Given the description of an element on the screen output the (x, y) to click on. 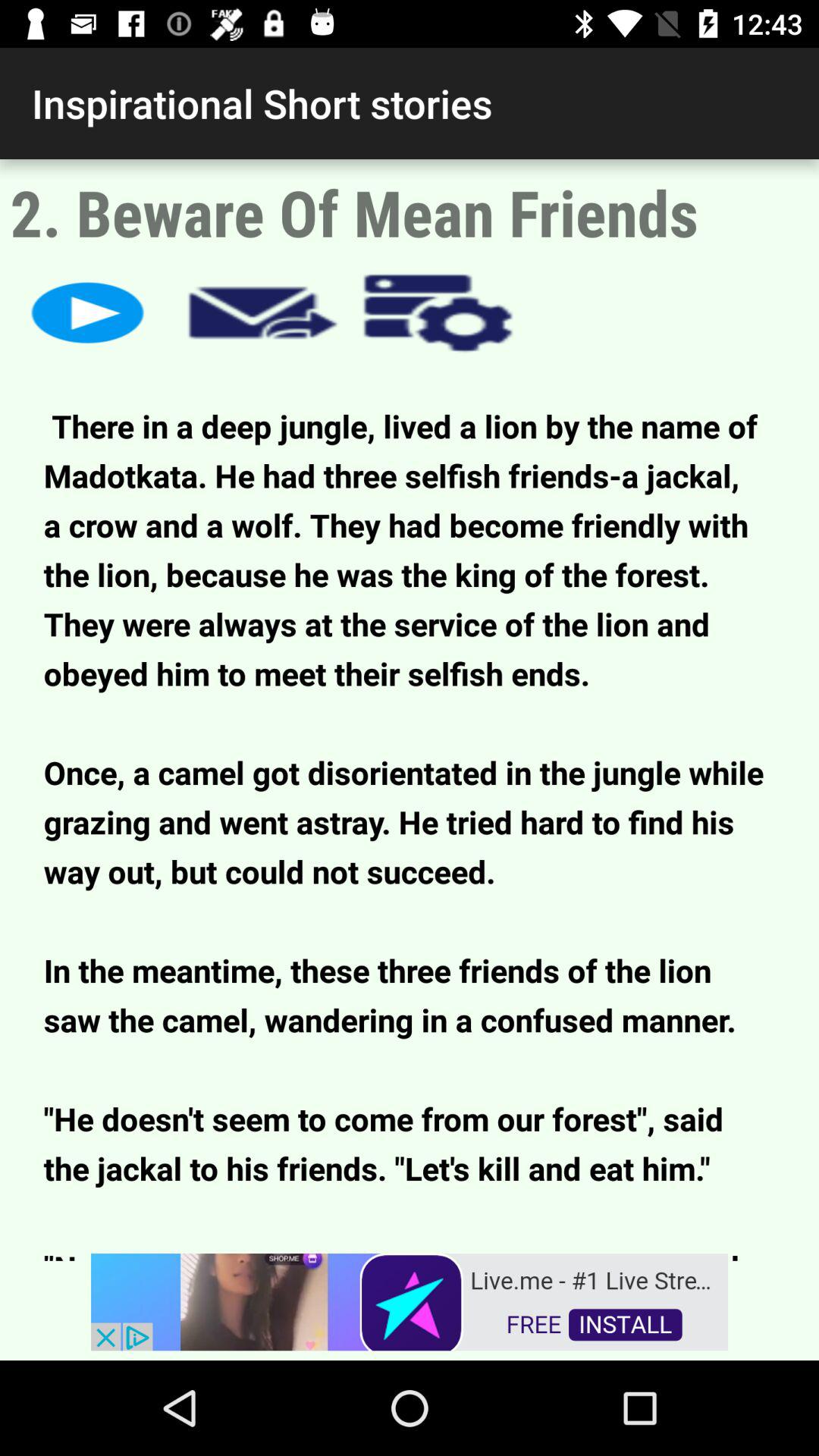
open advertisement (409, 1300)
